Given the description of an element on the screen output the (x, y) to click on. 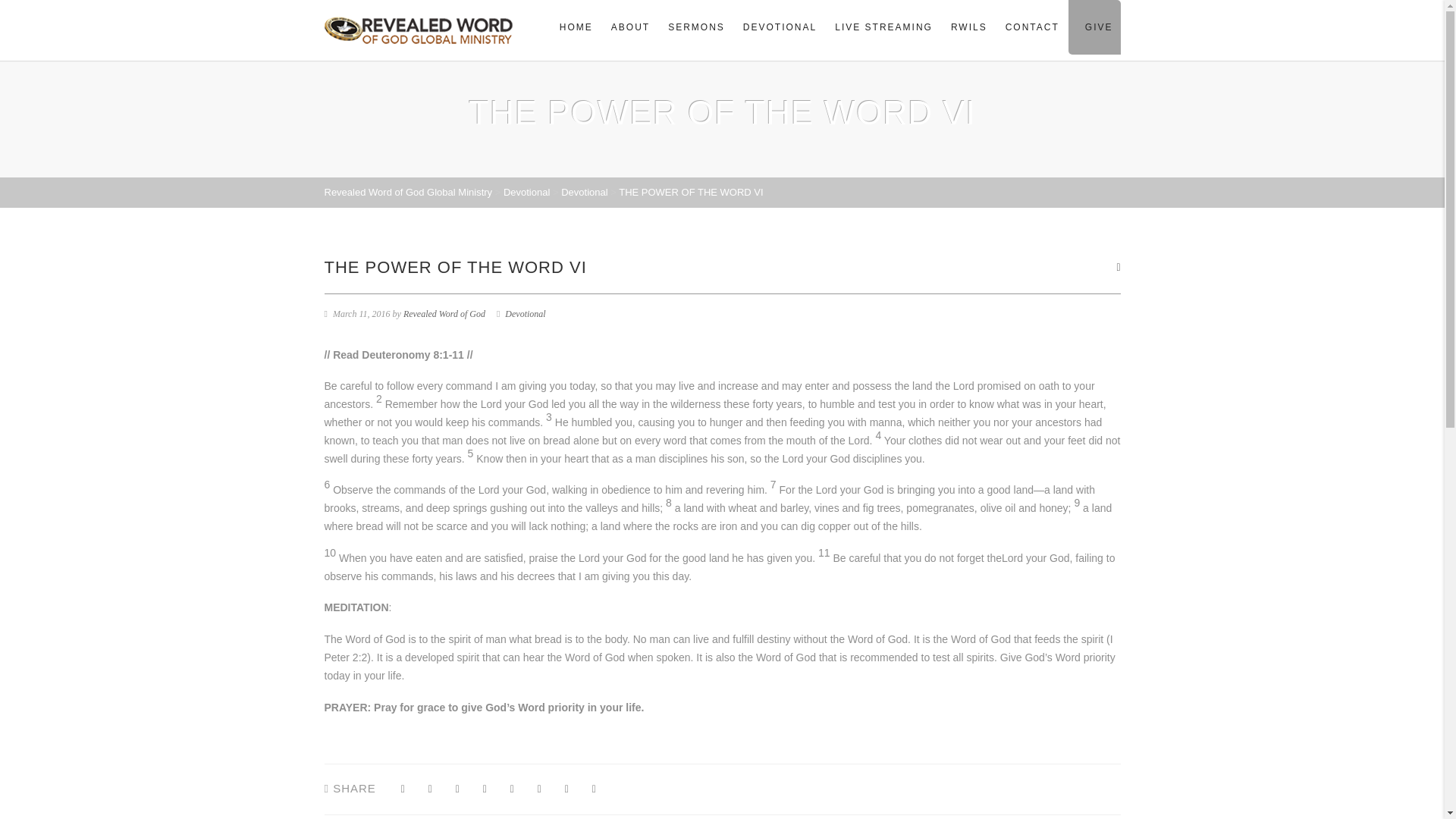
Revealed Word of God Global Ministry (408, 192)
Pin it (511, 788)
HOME (576, 27)
Devotional (526, 192)
SERMONS (696, 27)
Revealed Word of God (443, 313)
Share on Facebook (402, 788)
DEVOTIONAL (779, 27)
CONTACT (1031, 27)
ABOUT (630, 27)
Email (594, 788)
Go to the Devotional Category archives. (583, 192)
Submit to Reddit (538, 788)
Share on LinkedIn (566, 788)
Go to Devotional. (526, 192)
